Given the description of an element on the screen output the (x, y) to click on. 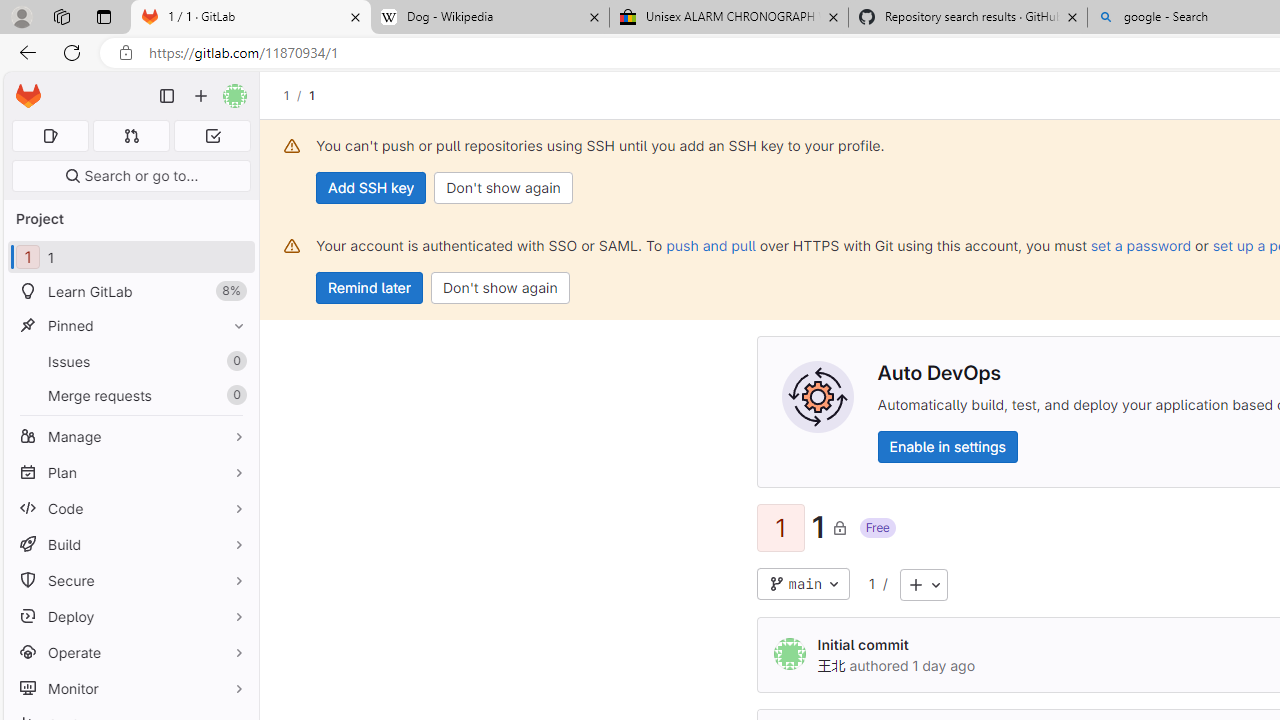
Remind later (369, 287)
Monitor (130, 687)
Primary navigation sidebar (167, 96)
Operate (130, 651)
Build (130, 543)
Code (130, 507)
Deploy (130, 615)
Create new... (201, 96)
Plan (130, 471)
Secure (130, 579)
Class: s16 gl-alert-icon gl-alert-icon-no-title (291, 246)
Issues 0 (130, 361)
